Given the description of an element on the screen output the (x, y) to click on. 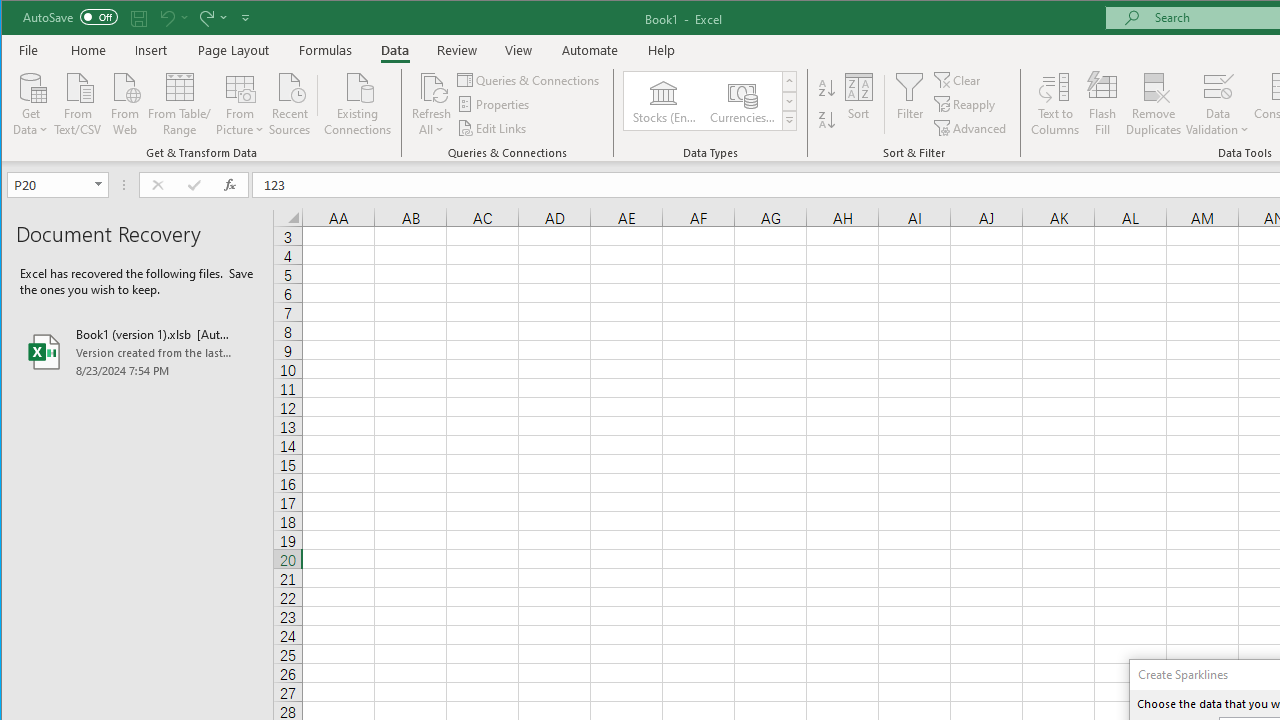
Text to Columns... (1055, 104)
Remove Duplicates (1153, 104)
Sort Smallest to Largest (827, 88)
Data Types (789, 120)
Sort Largest to Smallest (827, 119)
